Given the description of an element on the screen output the (x, y) to click on. 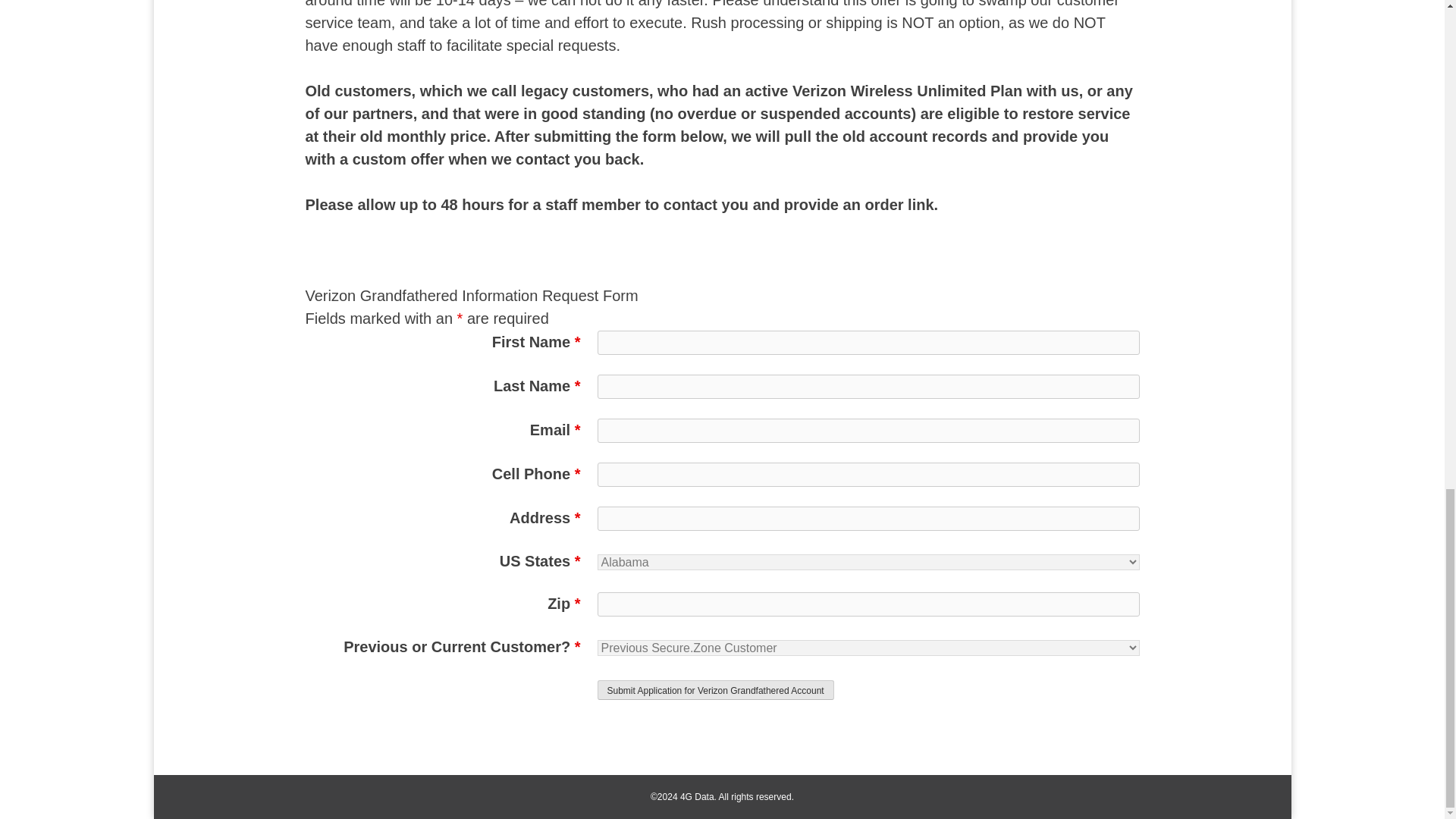
Submit Application for Verizon Grandfathered Account (715, 690)
Submit Application for Verizon Grandfathered Account (715, 690)
